Given the description of an element on the screen output the (x, y) to click on. 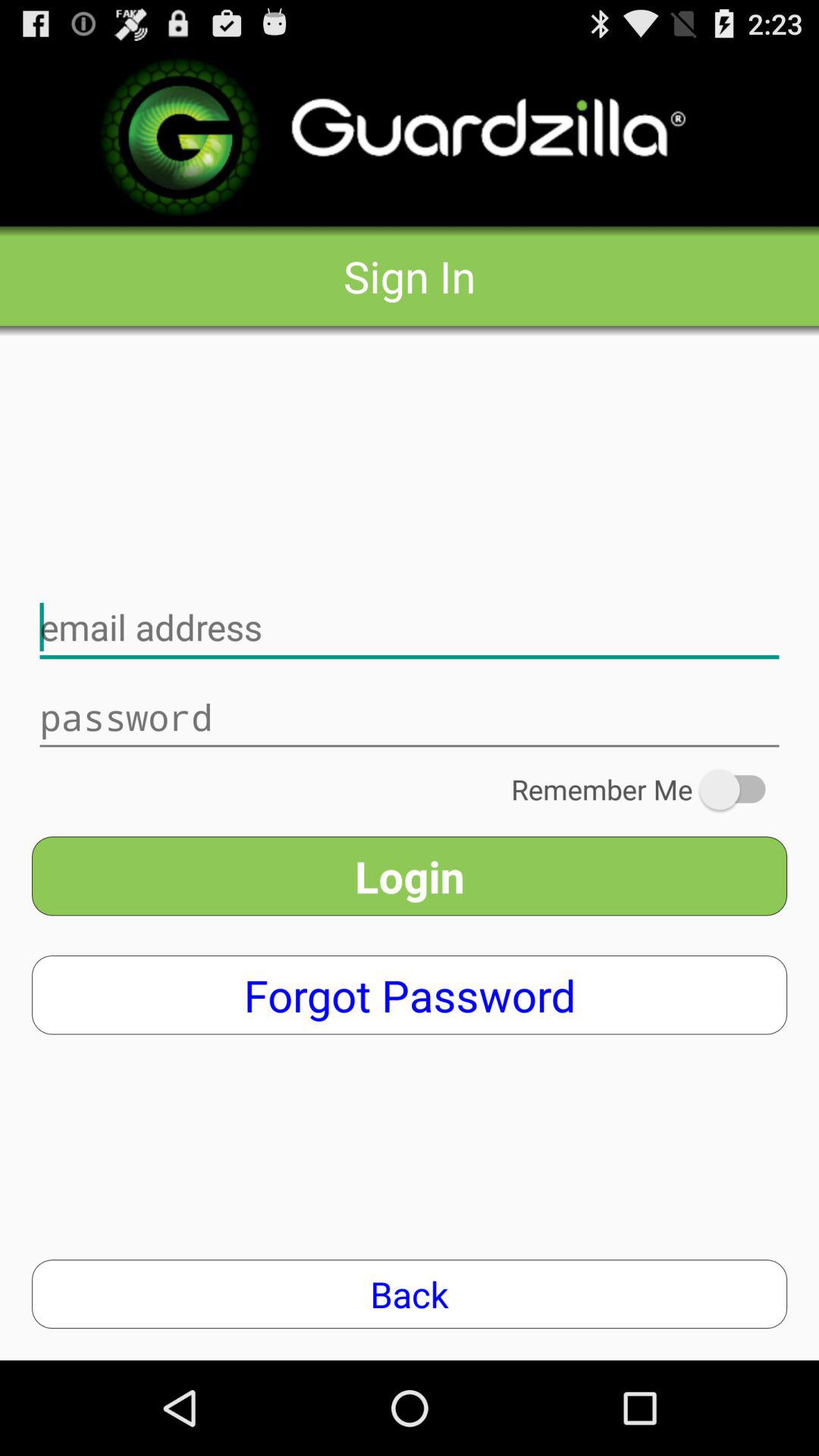
choose the app below forgot password (409, 1293)
